Given the description of an element on the screen output the (x, y) to click on. 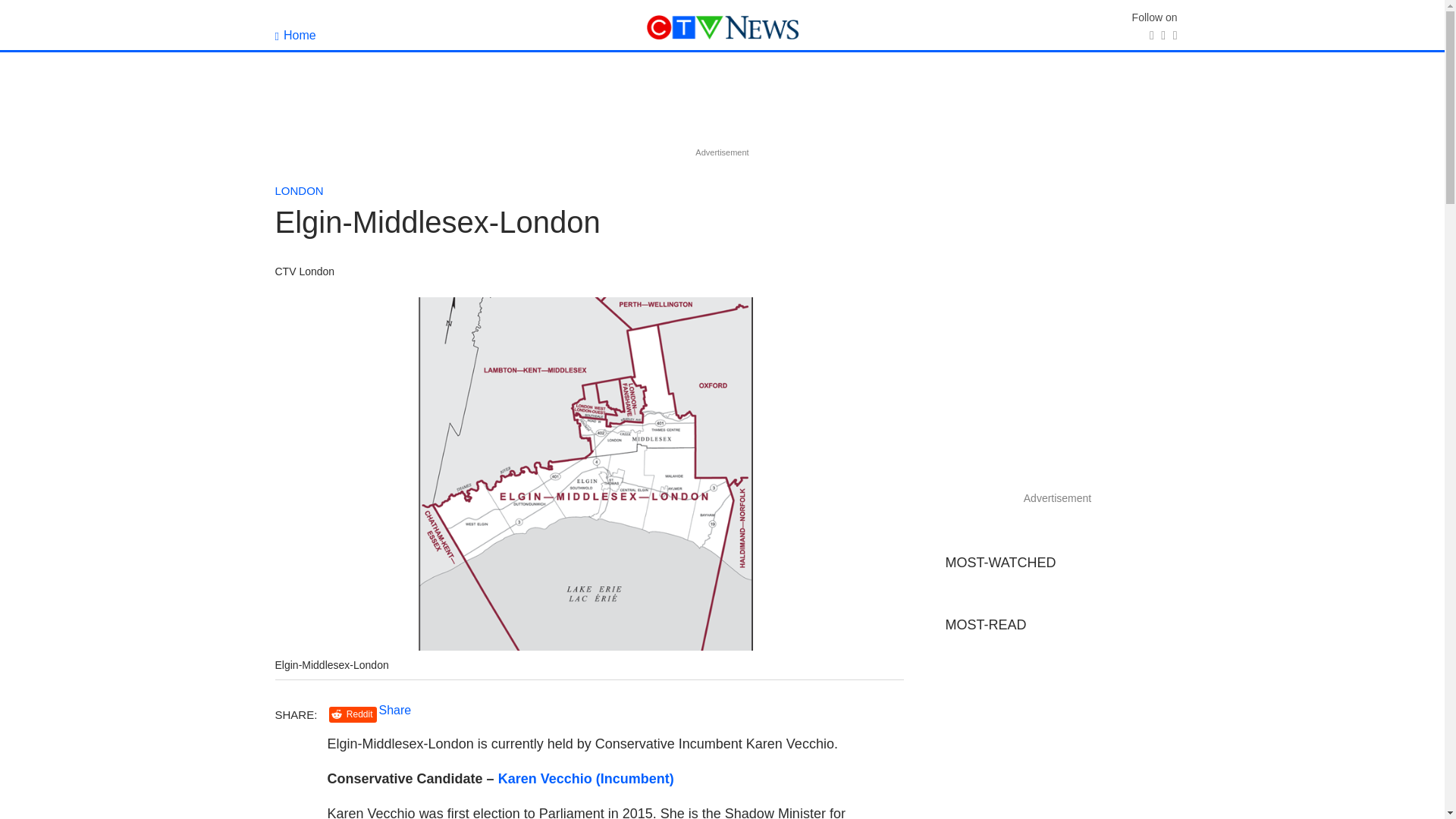
Reddit (353, 714)
Home (295, 34)
3rd party ad content (721, 109)
LONDON (299, 190)
Share (395, 709)
